Given the description of an element on the screen output the (x, y) to click on. 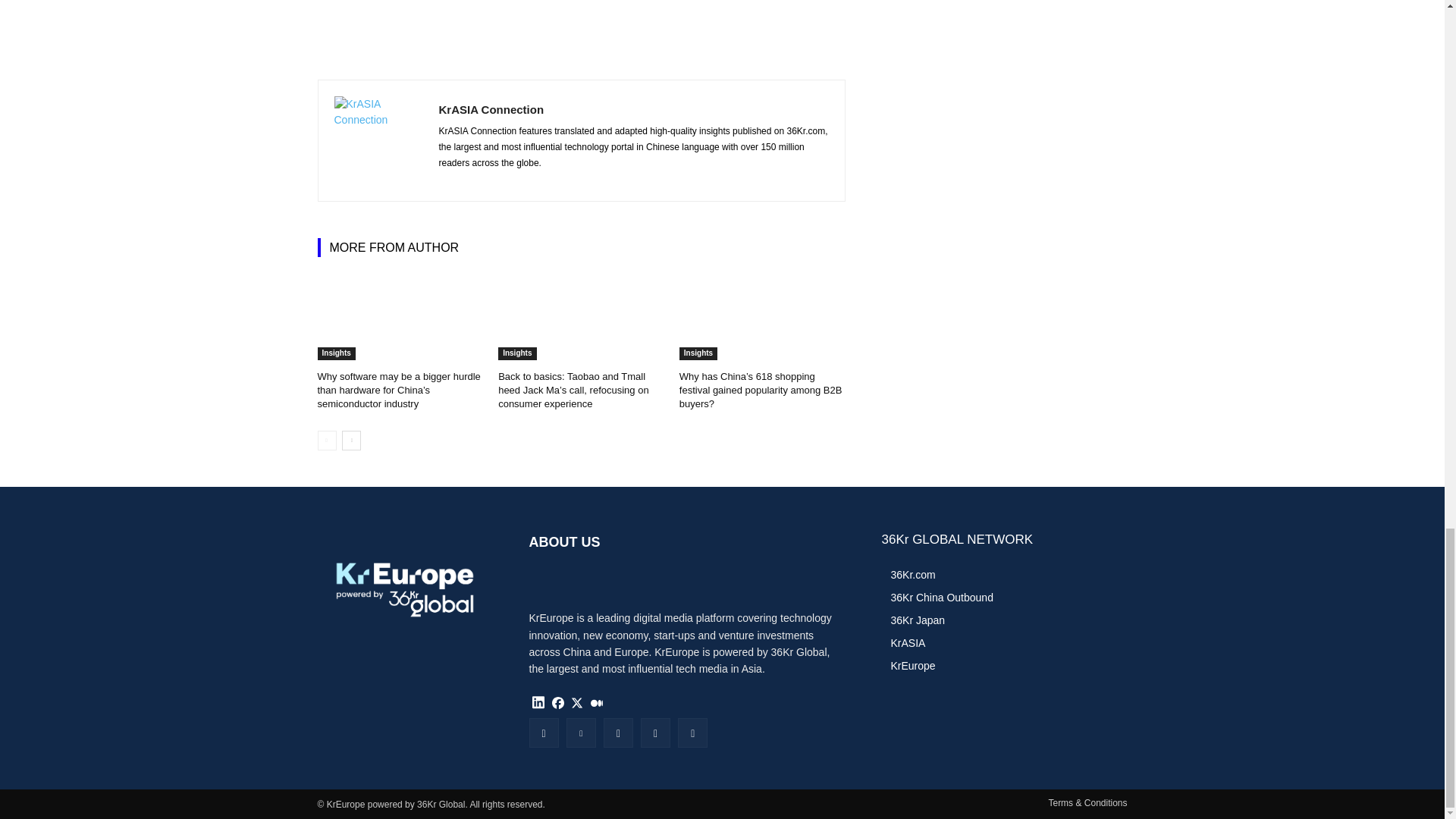
KrASIA Connection (377, 140)
